Given the description of an element on the screen output the (x, y) to click on. 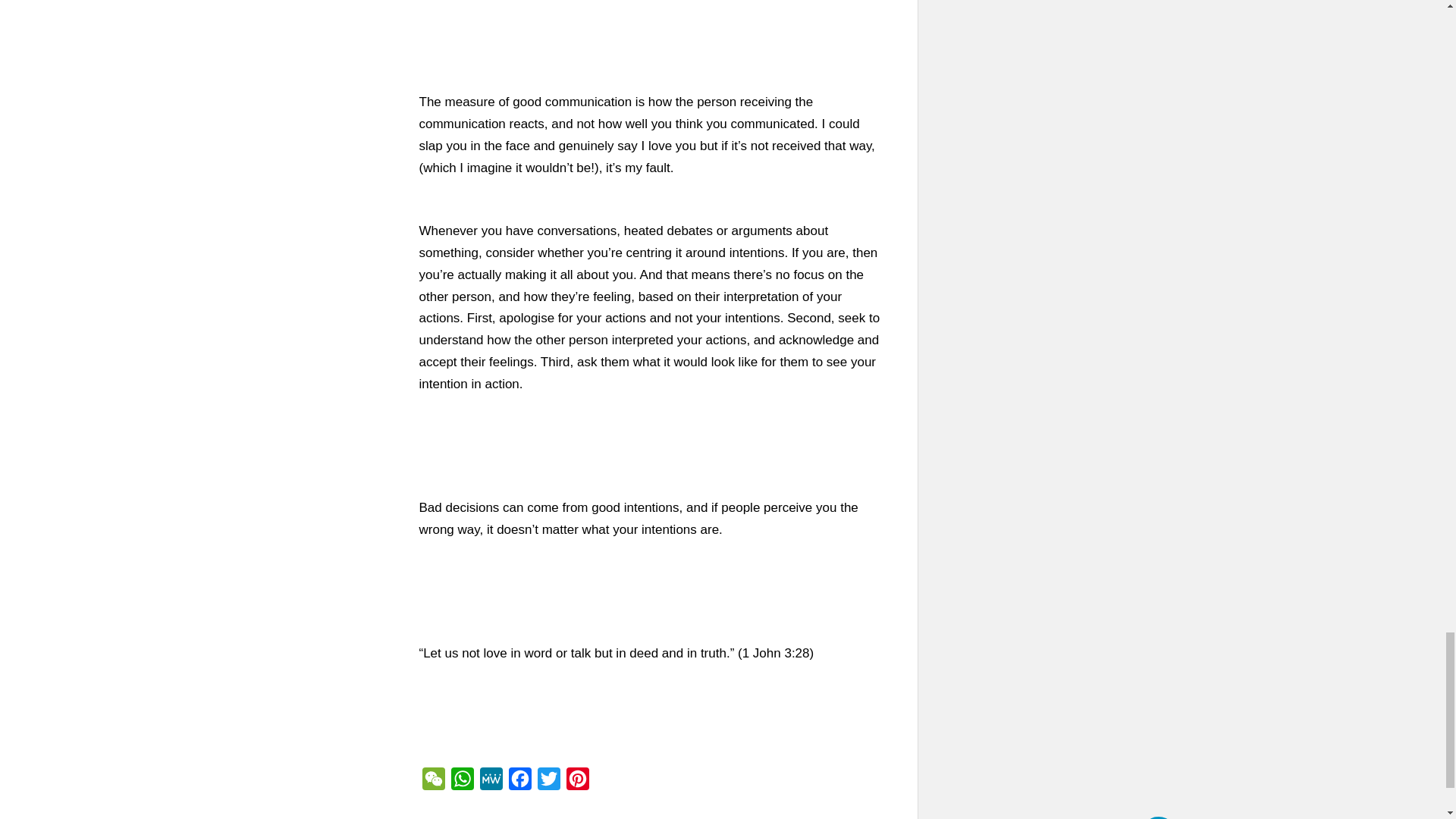
MeWe (490, 782)
Facebook (519, 782)
WhatsApp (461, 782)
Twitter (548, 782)
Pinterest (576, 782)
WeChat (432, 782)
